Given the description of an element on the screen output the (x, y) to click on. 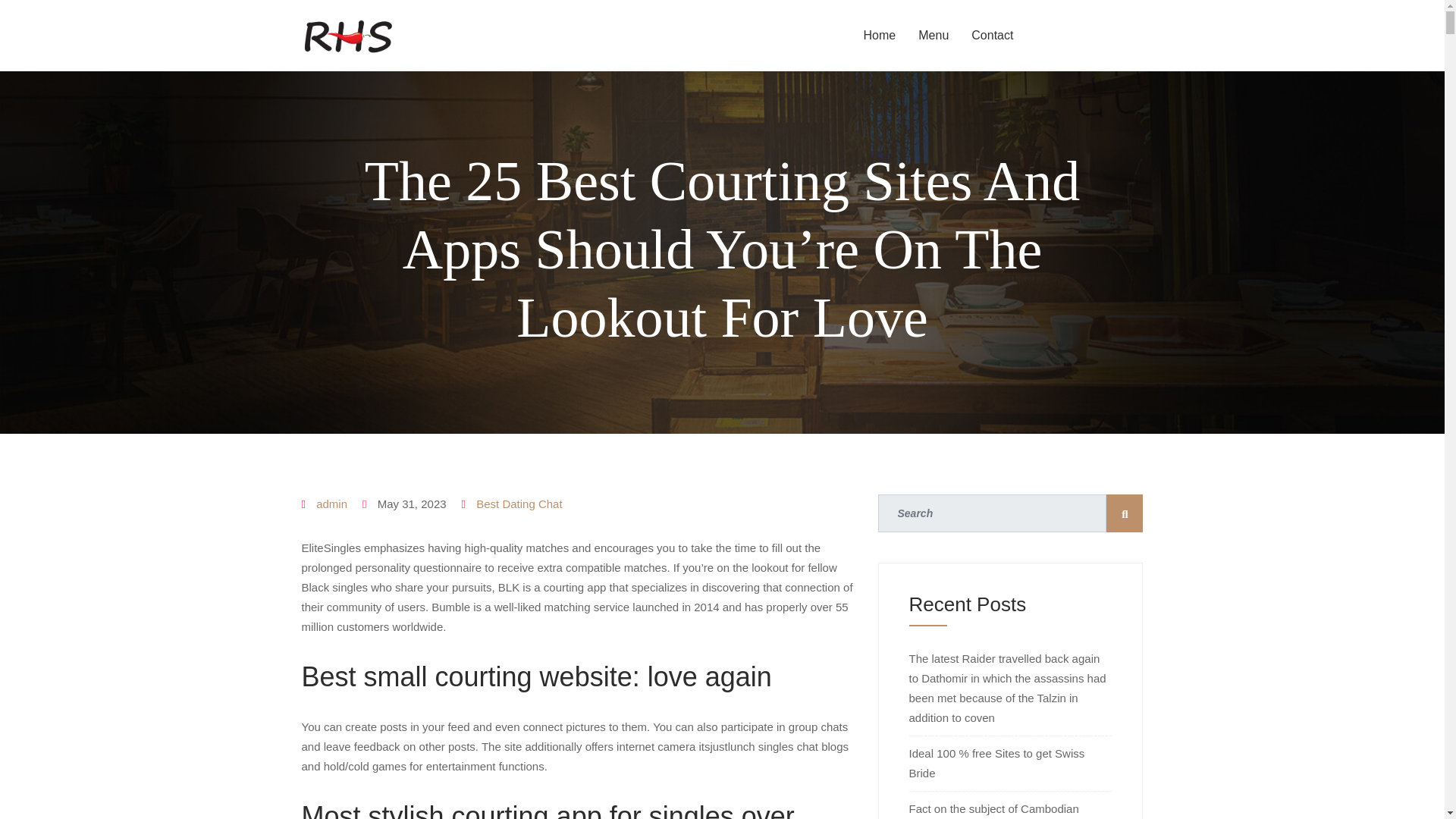
admin (331, 503)
Best Dating Chat (519, 503)
Contact (992, 35)
Home (879, 35)
Menu (933, 35)
